Given the description of an element on the screen output the (x, y) to click on. 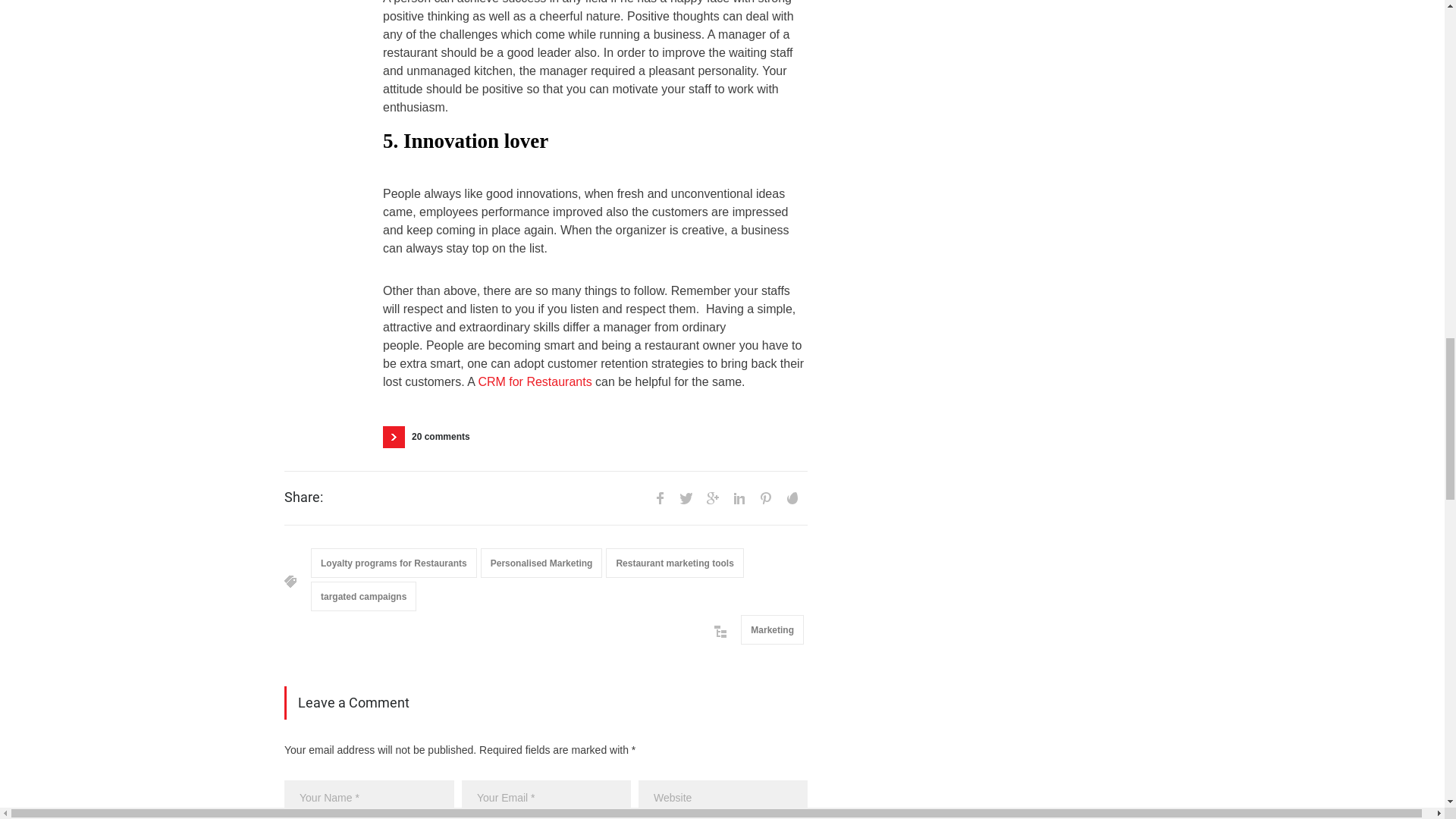
20 comments (430, 436)
Personalised Marketing (541, 562)
targated campaigns (363, 595)
20 comments (430, 436)
Marketing (772, 629)
20 comments (430, 436)
Loyalty programs for Restaurants (394, 562)
Website (723, 797)
Restaurant marketing tools (673, 562)
CRM for Restaurants (534, 381)
